Given the description of an element on the screen output the (x, y) to click on. 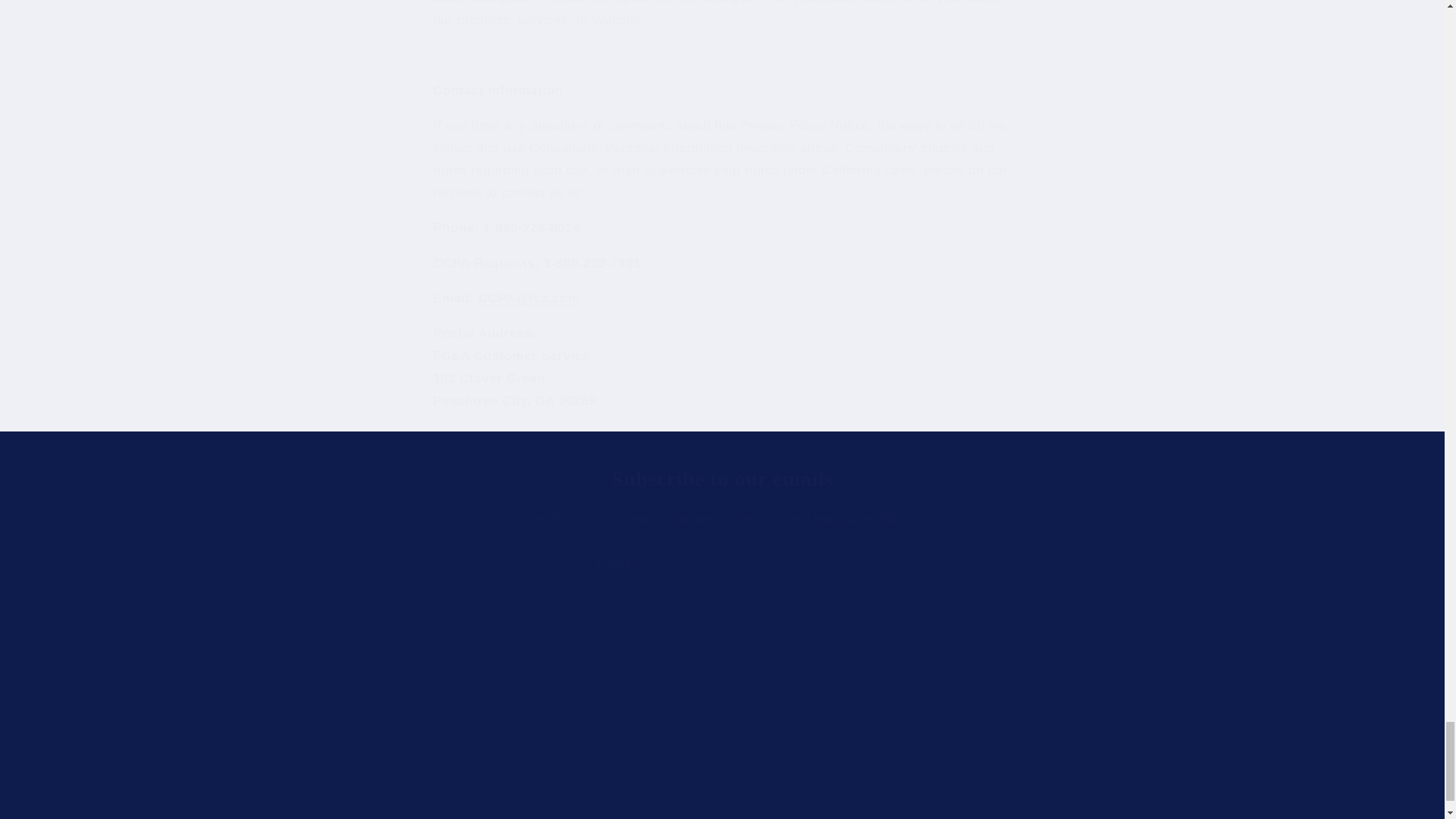
About The Product (340, 659)
Do Not Sell My Personal Information (394, 761)
Contact Us (721, 699)
Terms and Conditions (616, 659)
FAQ (349, 685)
CA PRIVACY POLICY (596, 710)
FAQ (326, 710)
California Privacy Rights and Choices Form (624, 685)
Email (337, 735)
Subscribe to our emails (722, 565)
